Given the description of an element on the screen output the (x, y) to click on. 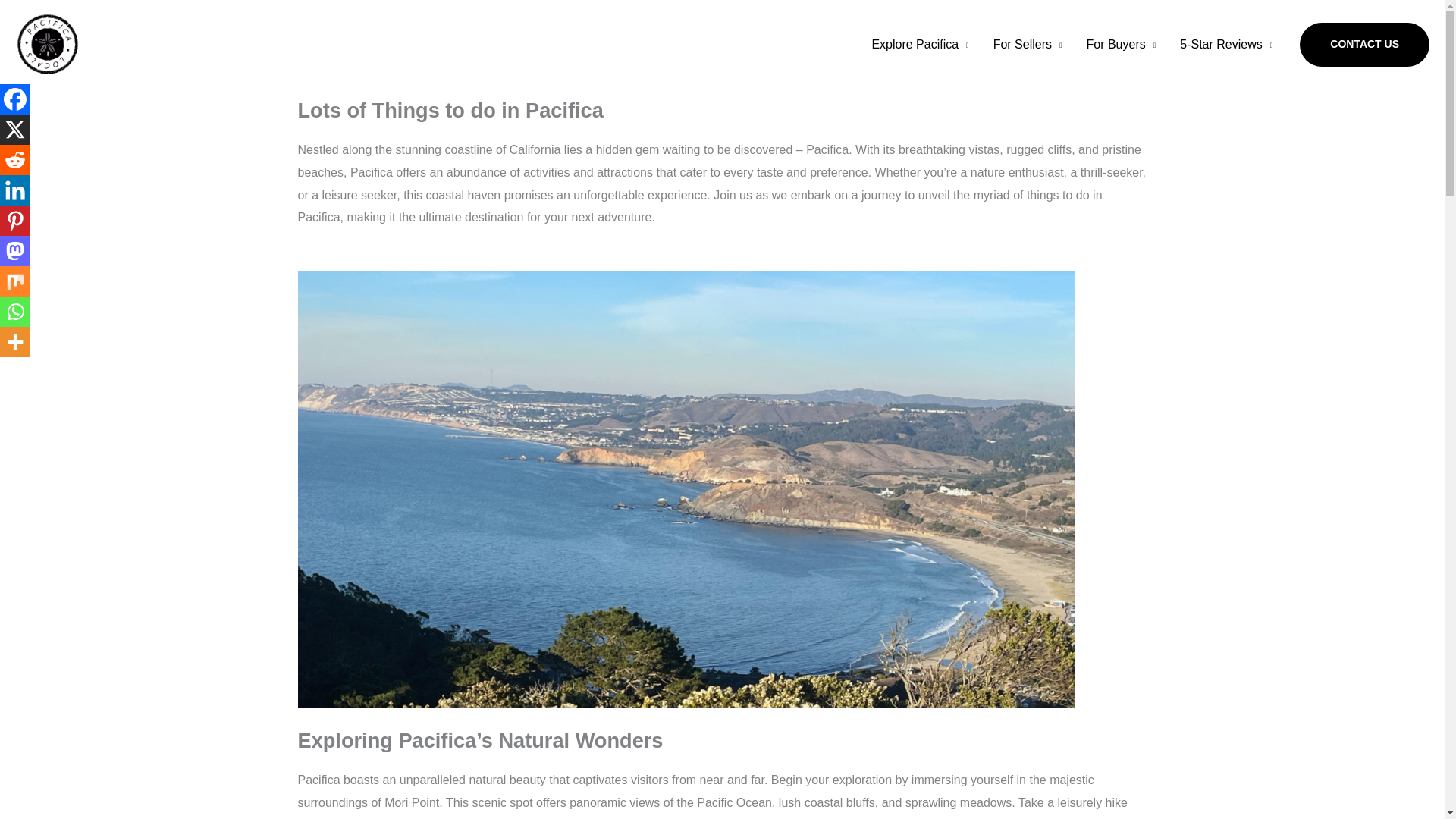
Linkedin (15, 190)
5-Star Reviews (1225, 44)
Explore Pacifica (919, 44)
For Buyers (1120, 44)
CONTACT US (1364, 44)
Pinterest (15, 220)
For Sellers (1027, 44)
More (15, 341)
Whatsapp (15, 311)
Mastodon (15, 250)
